Given the description of an element on the screen output the (x, y) to click on. 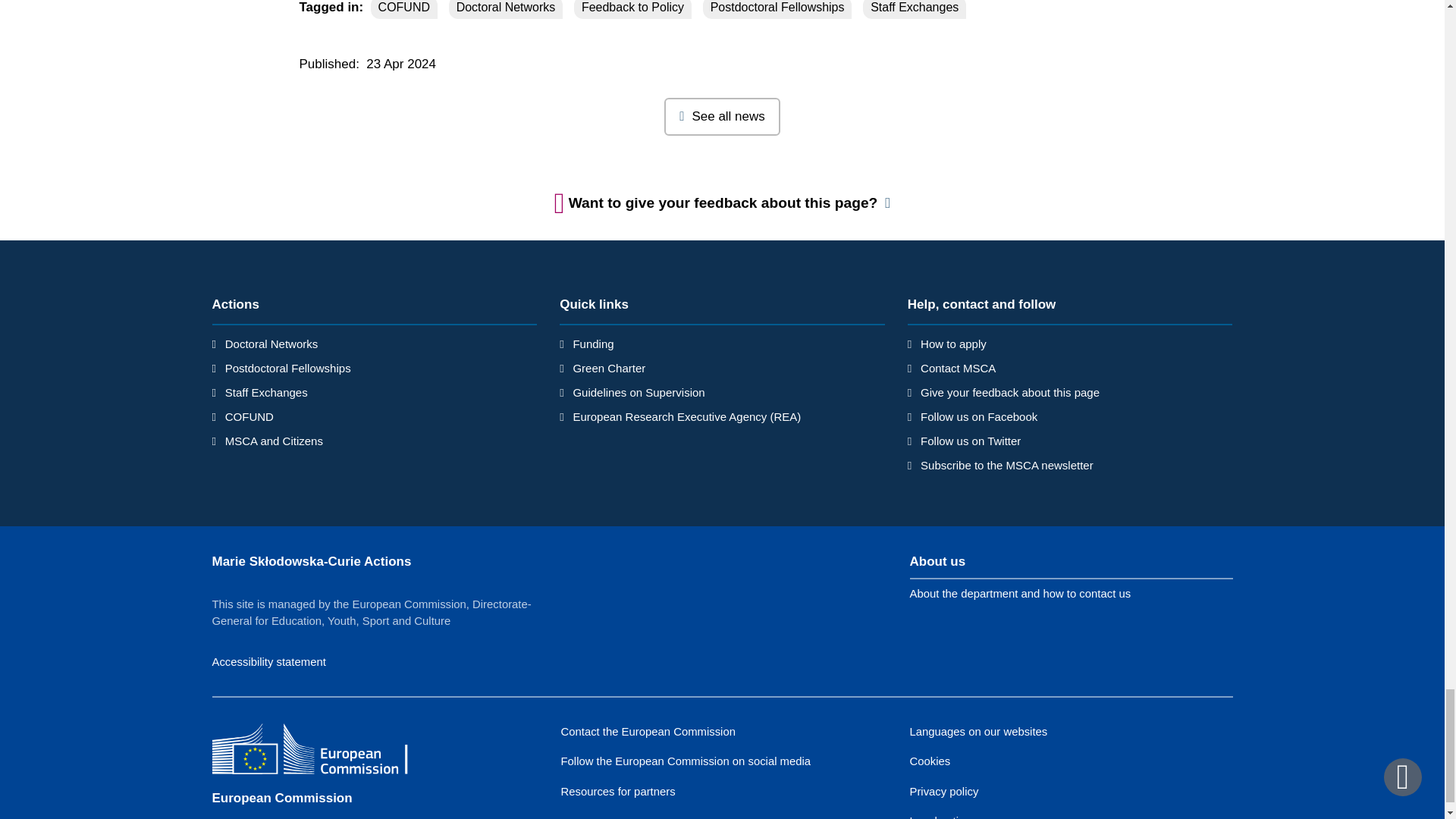
Want to give your feedback about this page? (722, 203)
European Commission (322, 750)
See all news (721, 116)
